Given the description of an element on the screen output the (x, y) to click on. 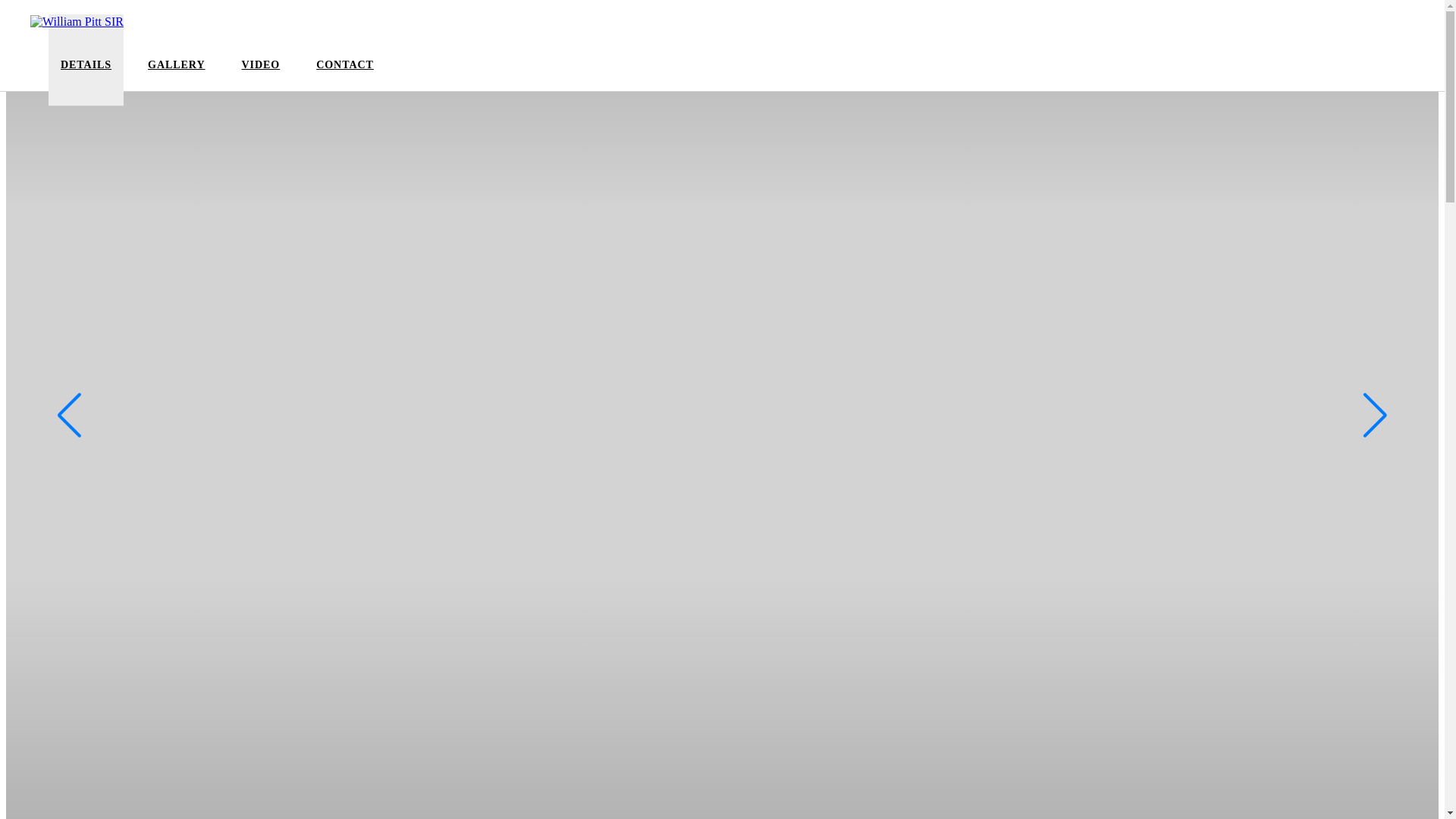
GALLERY Element type: text (175, 73)
CONTACT Element type: text (344, 73)
William Pitt SIR Element type: hover (76, 21)
DETAILS Element type: text (85, 73)
VIDEO Element type: text (260, 73)
